Given the description of an element on the screen output the (x, y) to click on. 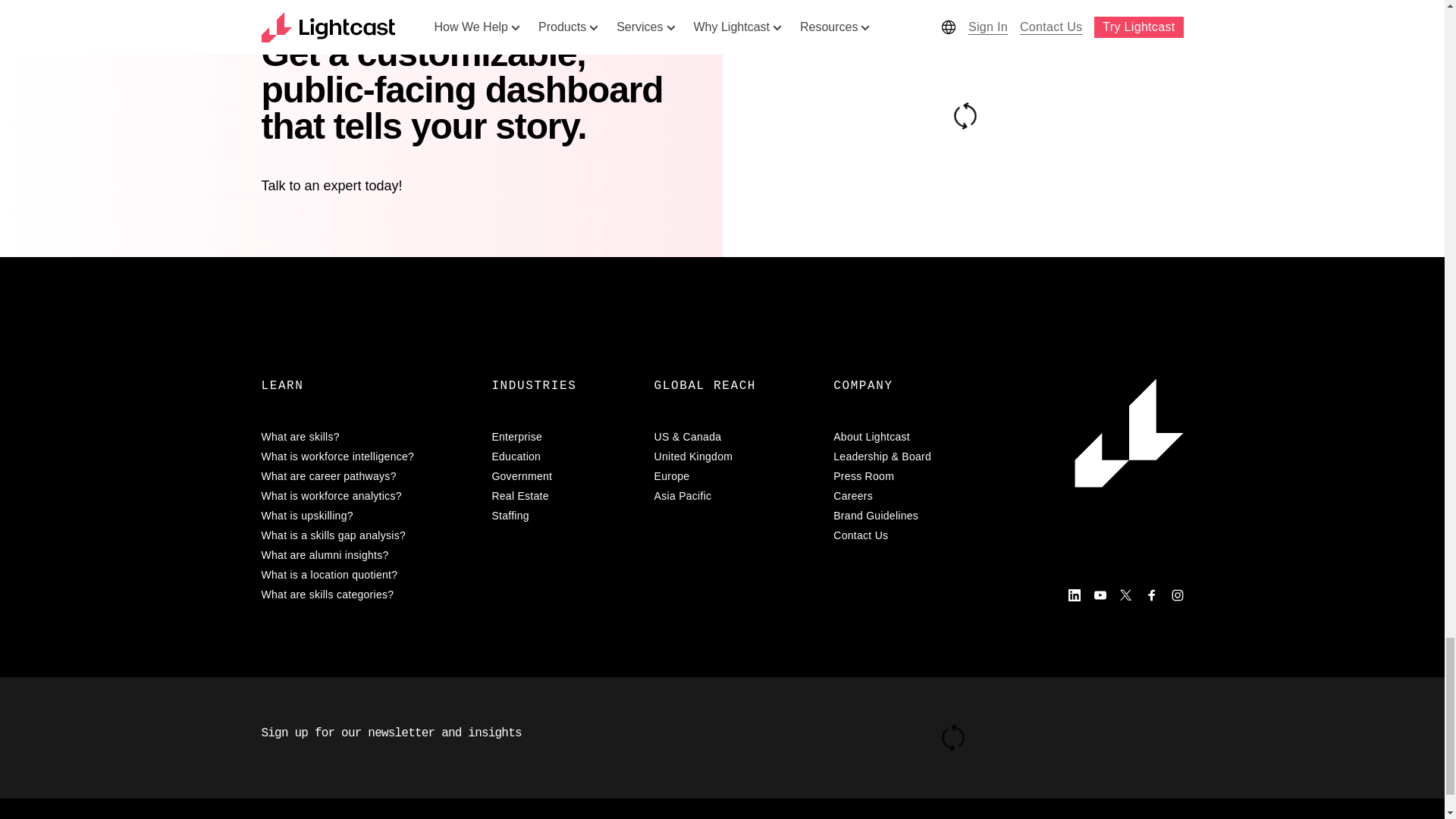
United Kingdom (734, 456)
Government (563, 476)
What are skills? (366, 436)
What is a skills gap analysis? (366, 535)
What is workforce analytics? (366, 495)
Press Room (911, 476)
Real Estate (563, 495)
What is upskilling? (366, 515)
What are career pathways? (366, 476)
Brand Guidelines (911, 515)
